Given the description of an element on the screen output the (x, y) to click on. 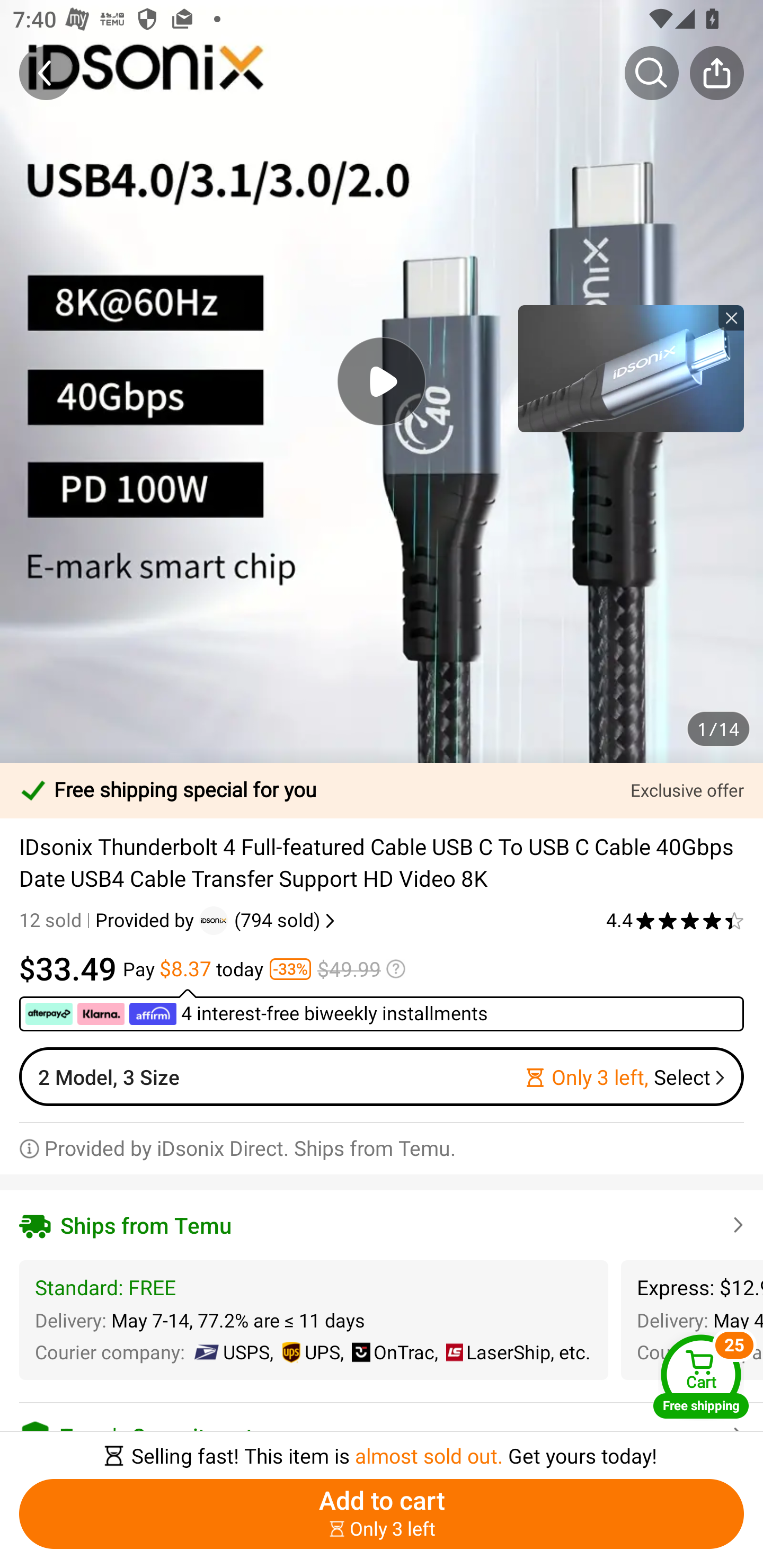
Back (46, 72)
Share (716, 72)
tronplayer_view (631, 368)
Free shipping special for you Exclusive offer (381, 790)
12 sold Provided by  (109, 920)
4.4 (674, 920)
￼ ￼ ￼ 4 interest-free biweekly installments (381, 1009)
2 Model, 3 Size   Only 3 left, Select (381, 1076)
Ships from Temu (381, 1225)
Cart Free shipping Cart (701, 1375)
Add to cart ￼￼Only 3 left (381, 1513)
